Given the description of an element on the screen output the (x, y) to click on. 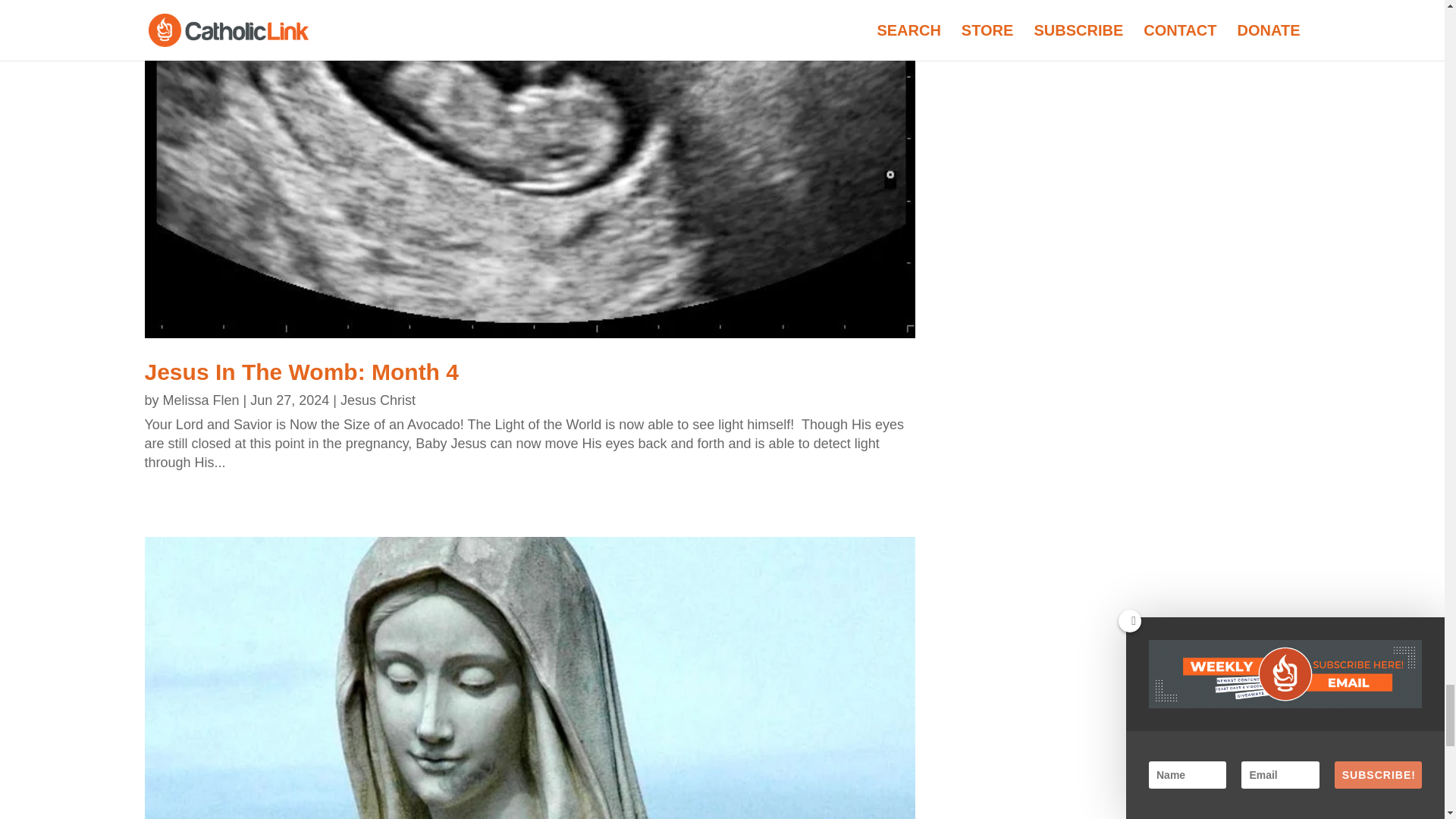
Posts by Melissa Flen (201, 400)
